Given the description of an element on the screen output the (x, y) to click on. 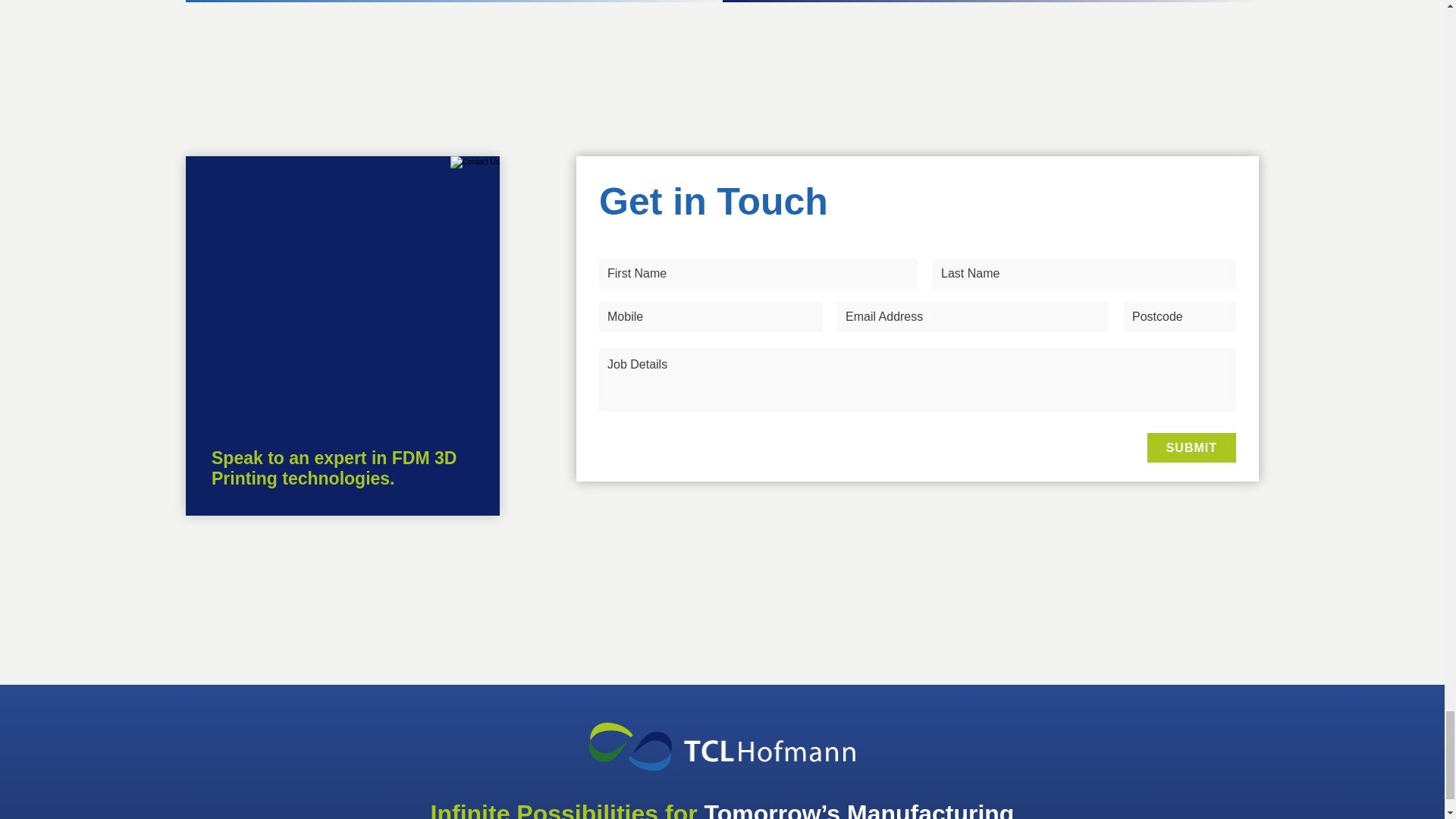
Submit (1191, 447)
